Given the description of an element on the screen output the (x, y) to click on. 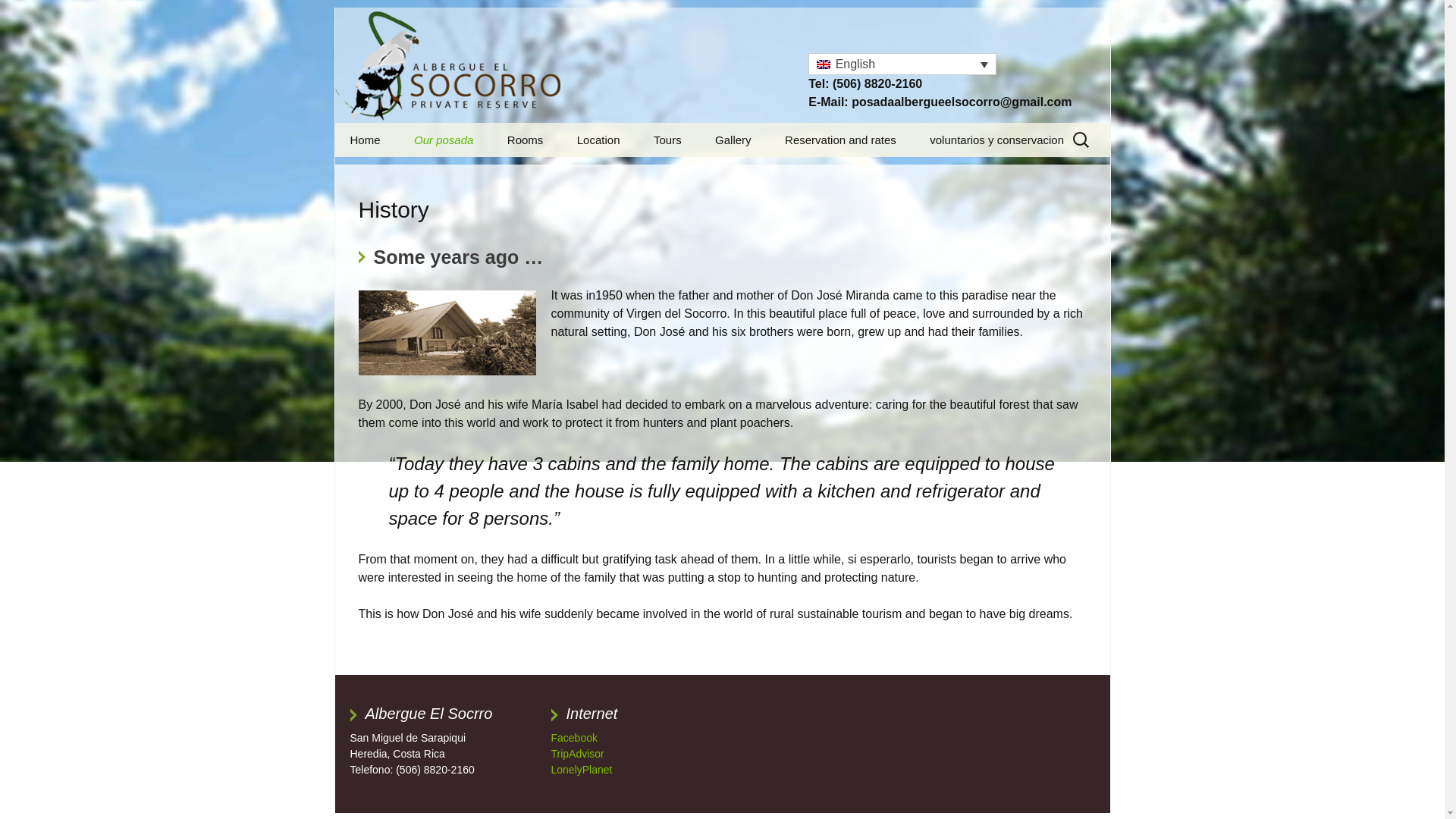
English (822, 63)
Posada El Socorro (448, 64)
Our posada (442, 139)
Location (598, 139)
Search (18, 15)
Home (365, 139)
voluntarios y conservacion (996, 139)
TripAdvisor (577, 753)
English (901, 64)
